Given the description of an element on the screen output the (x, y) to click on. 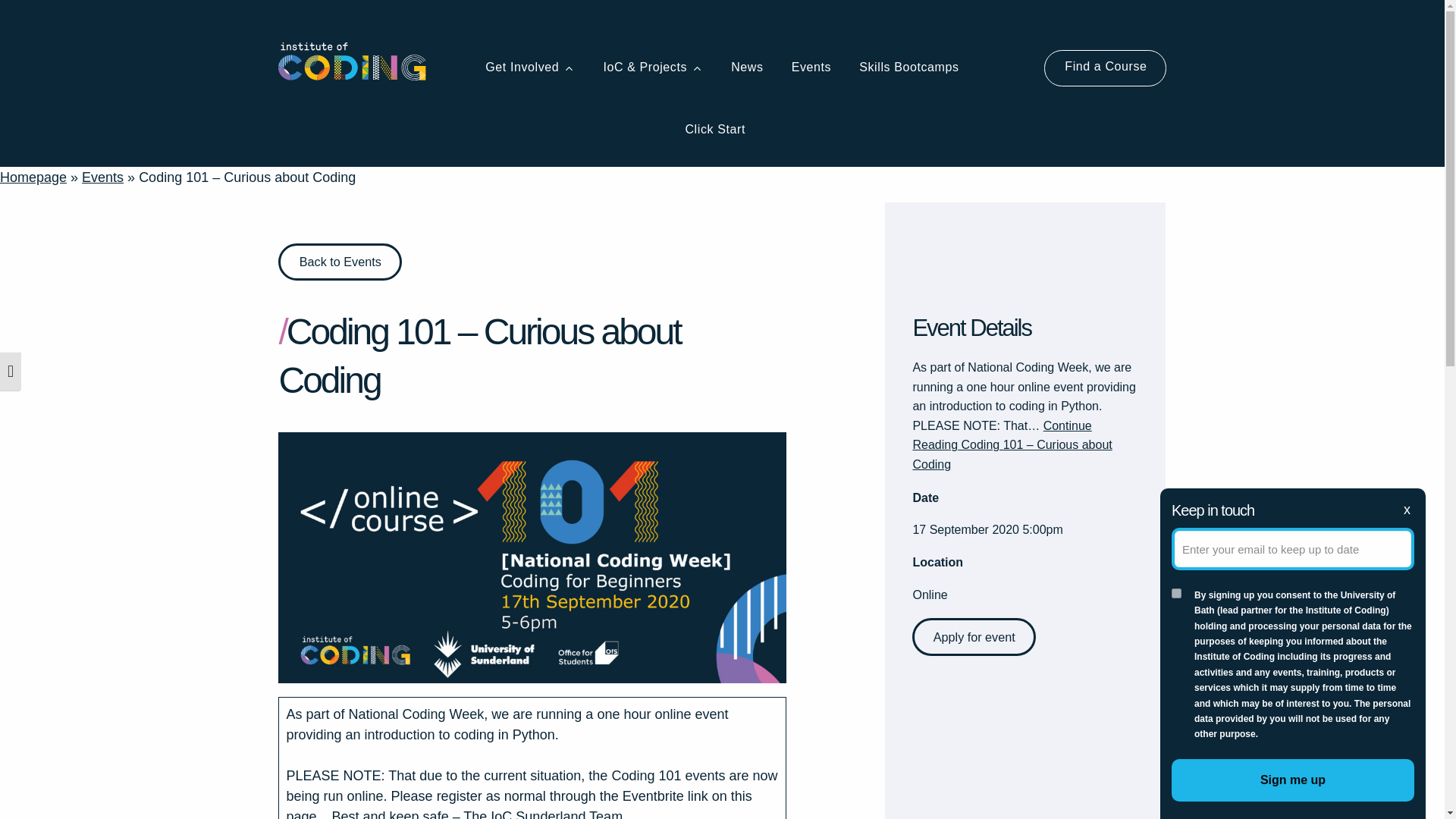
News (746, 66)
Skills Bootcamps (908, 66)
Homepage (33, 177)
Events (102, 177)
Apply for event (973, 637)
Back to Events (339, 262)
Get Involved (529, 66)
Sign me up (1292, 780)
Click Start (714, 129)
Find a Course (1104, 67)
Events (811, 66)
